Given the description of an element on the screen output the (x, y) to click on. 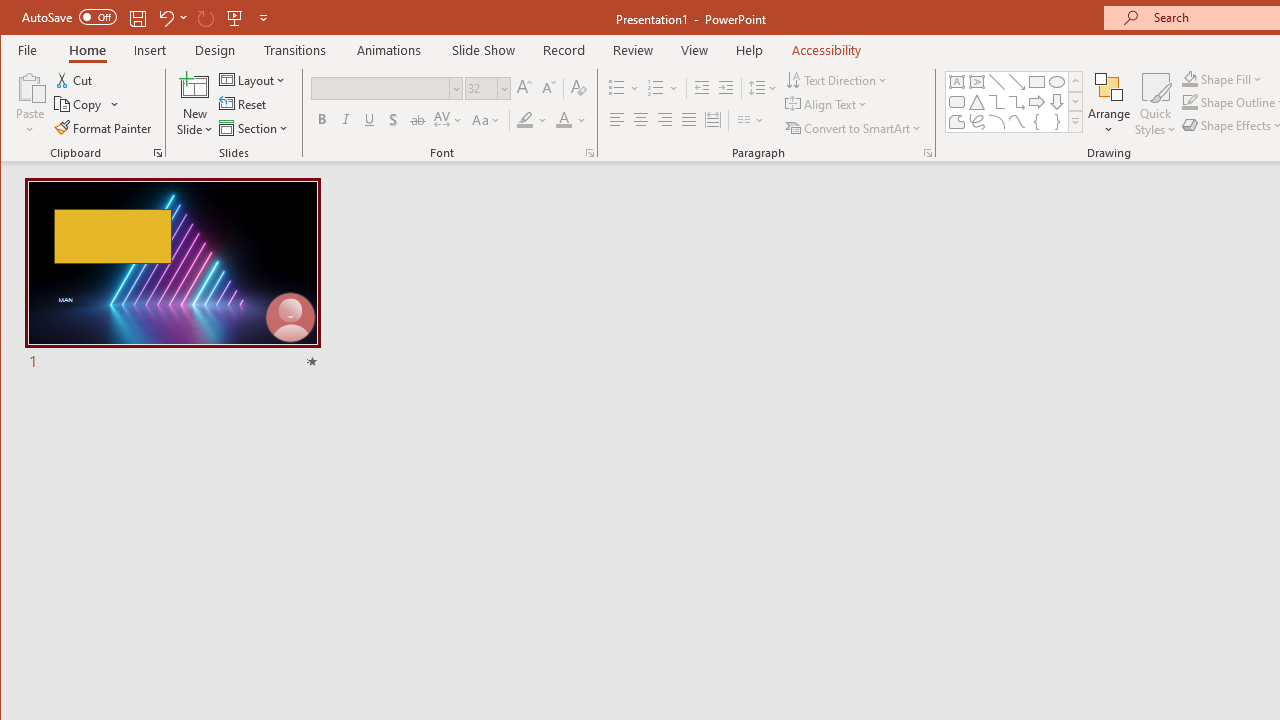
Increase Font Size (524, 88)
Bold (321, 119)
Columns (751, 119)
Line Spacing (764, 88)
Paragraph... (927, 152)
Quick Styles (1155, 104)
Freeform: Shape (956, 121)
Arc (996, 121)
Increase Indent (726, 88)
